Given the description of an element on the screen output the (x, y) to click on. 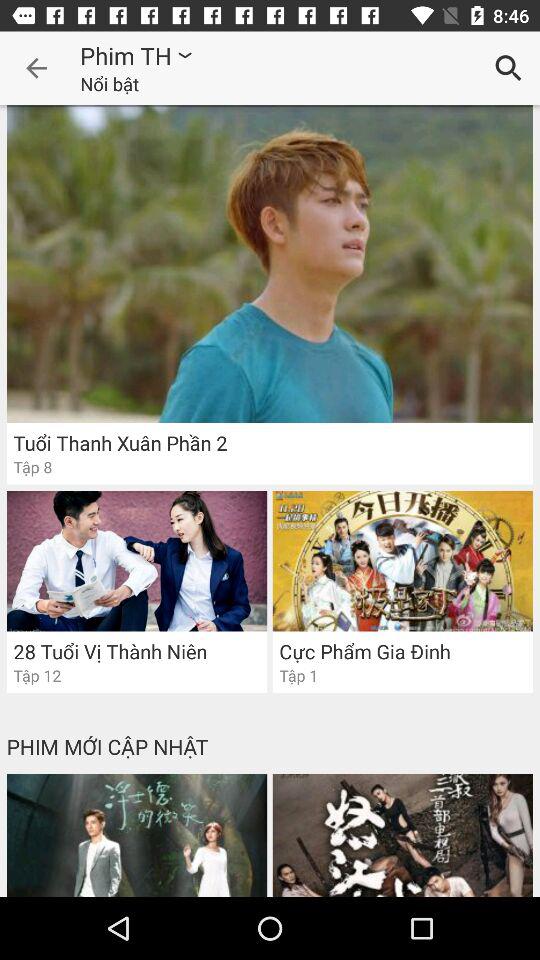
tap the item to the left of phim th (36, 68)
